Given the description of an element on the screen output the (x, y) to click on. 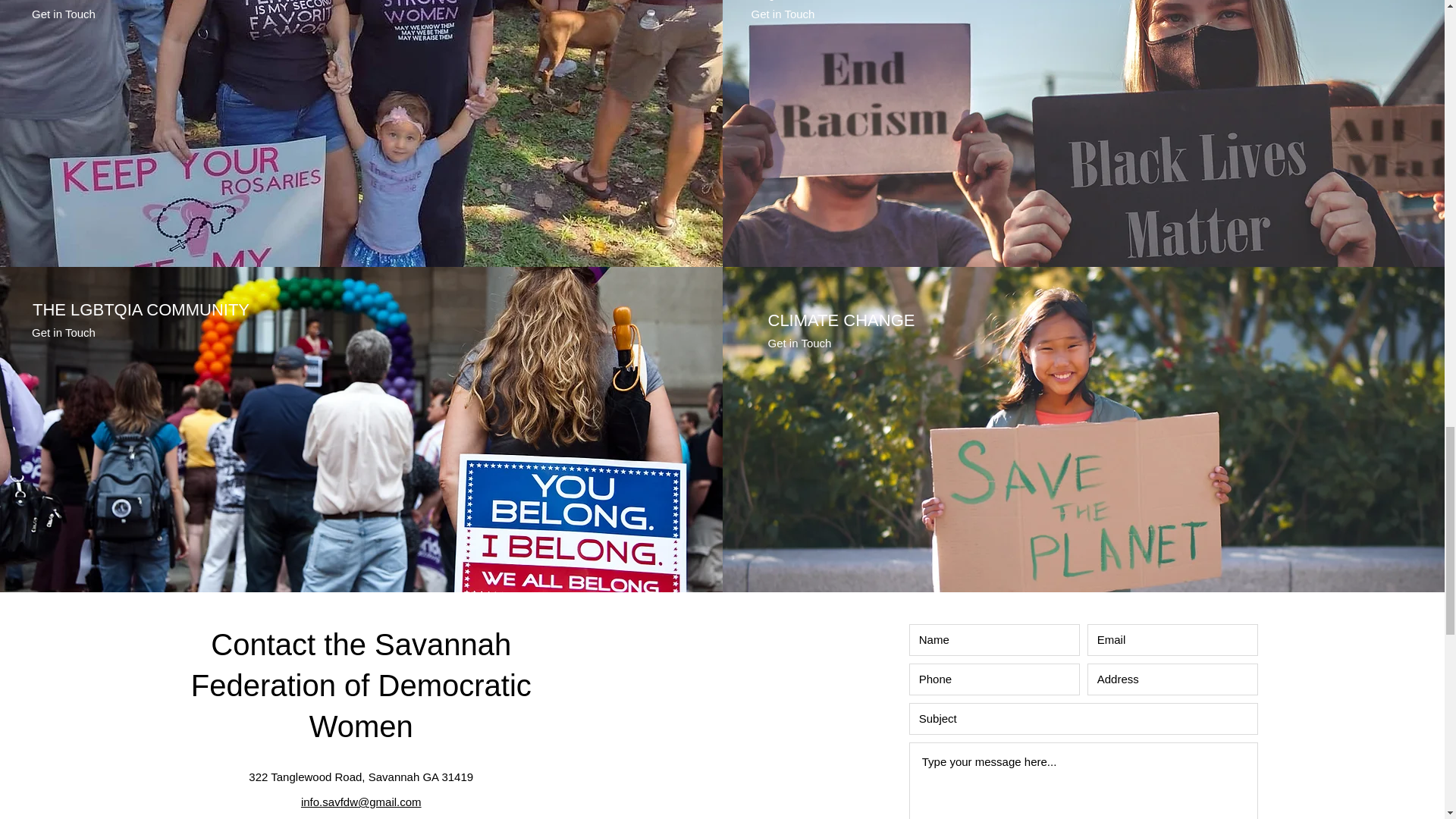
Get in Touch (64, 332)
Get in Touch (799, 343)
Get in Touch (783, 14)
Get in Touch (64, 14)
